Given the description of an element on the screen output the (x, y) to click on. 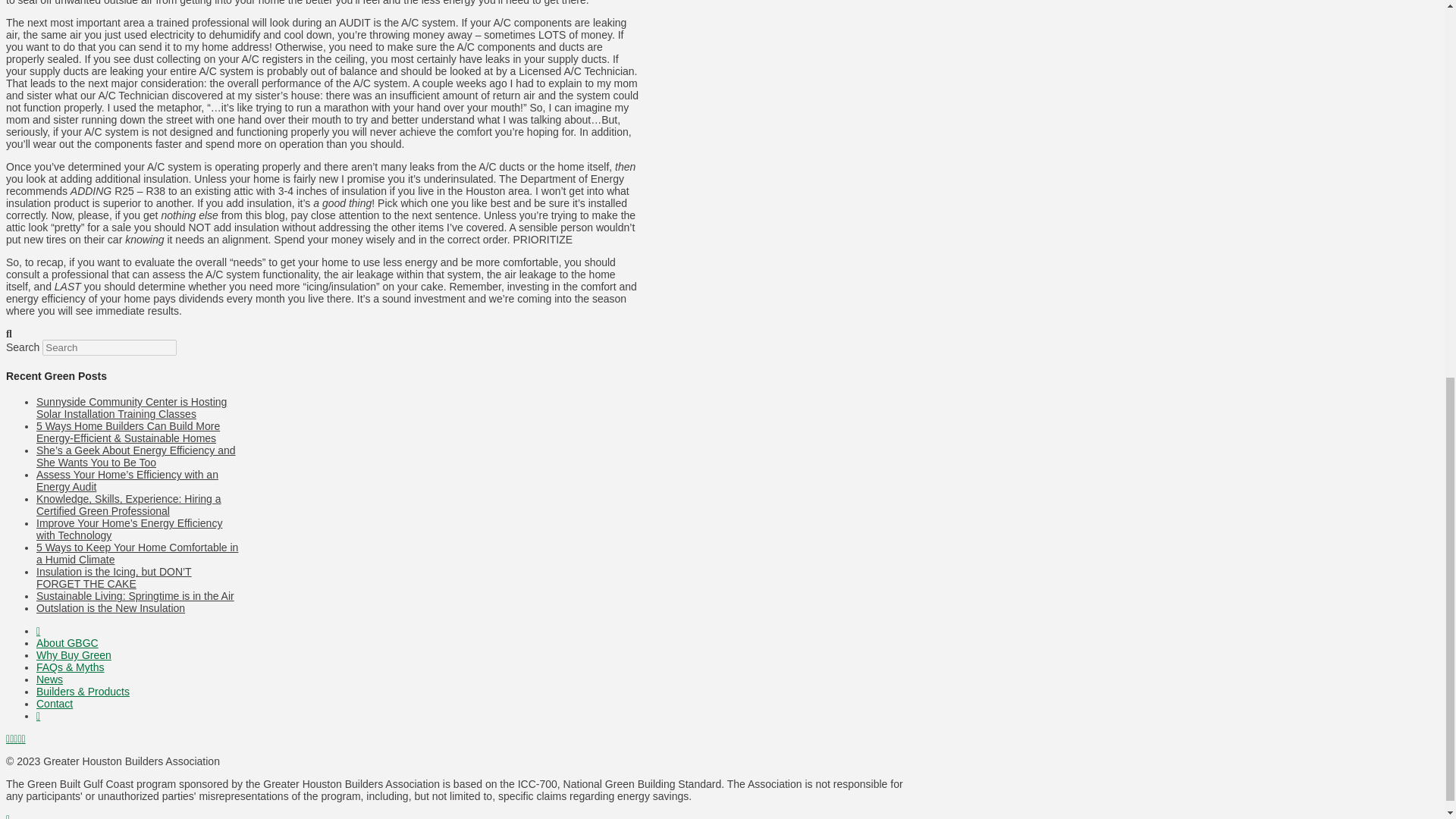
Sustainable Living: Springtime is in the Air (135, 595)
5 Ways to Keep Your Home Comfortable in a Humid Climate (137, 553)
